Given the description of an element on the screen output the (x, y) to click on. 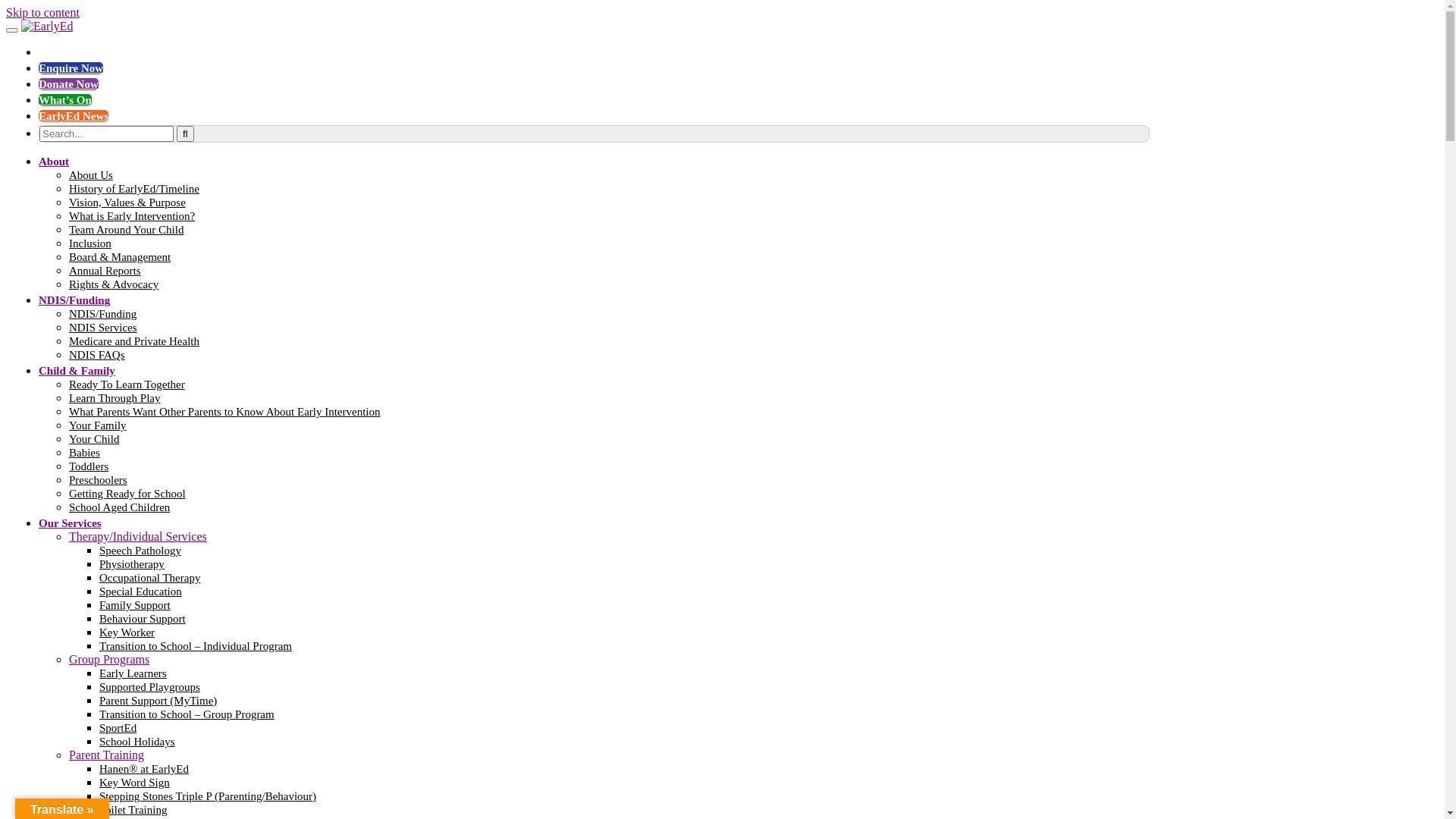
SportEd Element type: text (117, 727)
Supported Playgroups Element type: text (149, 686)
Team Around Your Child Element type: text (126, 229)
History of EarlyEd/Timeline Element type: text (134, 188)
Skip to content Element type: text (42, 12)
About Us Element type: text (90, 175)
Our Services Element type: text (69, 523)
Toilet Training Element type: text (132, 809)
Babies Element type: text (84, 452)
Board & Management Element type: text (119, 257)
Key Word Sign Element type: text (134, 782)
Child & Family Element type: text (76, 370)
Ready To Learn Together Element type: text (127, 384)
Medicare and Private Health Element type: text (134, 341)
What is Early Intervention? Element type: text (131, 216)
School Holidays Element type: text (137, 741)
Key Worker Element type: text (126, 632)
Preschoolers Element type: text (98, 479)
NDIS/Funding Element type: text (73, 300)
Early Learners Element type: text (132, 673)
Physiotherapy Element type: text (131, 564)
Your Child Element type: text (94, 439)
Group Programs Element type: text (109, 658)
Enquire Now Element type: text (70, 68)
Vision, Values & Purpose Element type: text (127, 202)
Parent Training Element type: text (106, 754)
NDIS Services Element type: text (103, 327)
Annual Reports Element type: text (105, 270)
Inclusion Element type: text (90, 243)
Your Family Element type: text (97, 425)
Parent Support (MyTime) Element type: text (157, 700)
Rights & Advocacy Element type: text (113, 284)
School Aged Children Element type: text (119, 507)
About Element type: text (53, 161)
Toddlers Element type: text (88, 466)
Learn Through Play Element type: text (114, 398)
Special Education Element type: text (140, 591)
Speech Pathology Element type: text (140, 550)
Occupational Therapy Element type: text (149, 577)
Behaviour Support Element type: text (142, 618)
Therapy/Individual Services Element type: text (138, 536)
NDIS FAQs Element type: text (96, 354)
Getting Ready for School Element type: text (127, 493)
NDIS/Funding Element type: text (102, 313)
Stepping Stones Triple P (Parenting/Behaviour) Element type: text (207, 796)
Donate Now Element type: text (68, 84)
Family Support Element type: text (134, 605)
EarlyEd News Element type: text (73, 115)
